Given the description of an element on the screen output the (x, y) to click on. 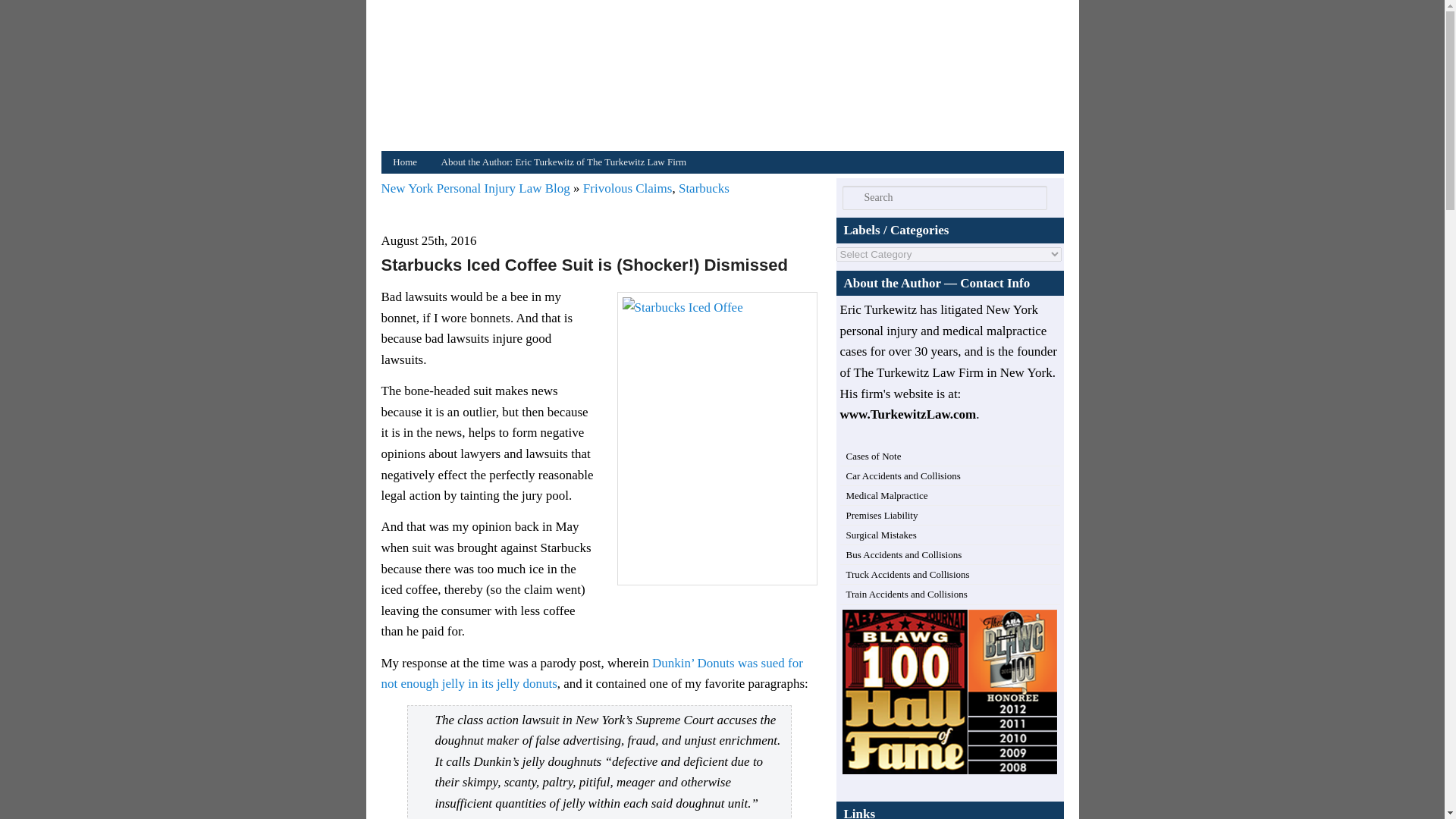
Home (725, 79)
Bus Accidents and Collisions (903, 554)
New York Personal Injury Law Blog (725, 79)
Truck Accidents and Collisions (907, 573)
Starbucks (703, 187)
Car Accidents and Collisions (902, 475)
Surgical Mistakes (881, 534)
Medical Malpractice (886, 495)
New York Personal Injury Law Blog (476, 187)
Cases of Note (873, 455)
Frivolous Claims (627, 187)
Premises Liability (881, 514)
Home (404, 161)
Train Accidents and Collisions (906, 593)
New York Personal Injury Law Blog (476, 187)
